Given the description of an element on the screen output the (x, y) to click on. 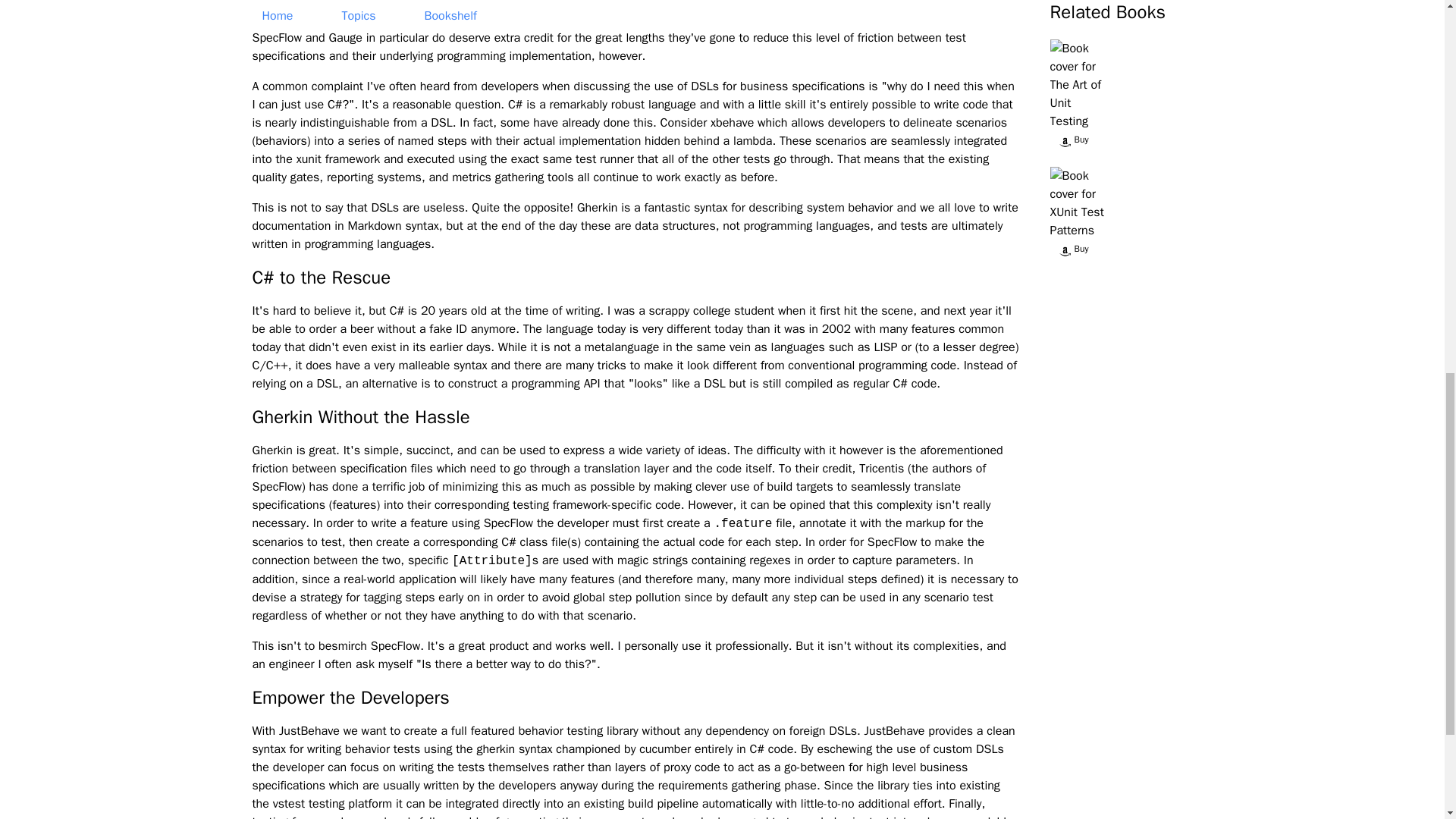
cucumber (664, 749)
tagging (382, 597)
xbehave (732, 122)
